Given the description of an element on the screen output the (x, y) to click on. 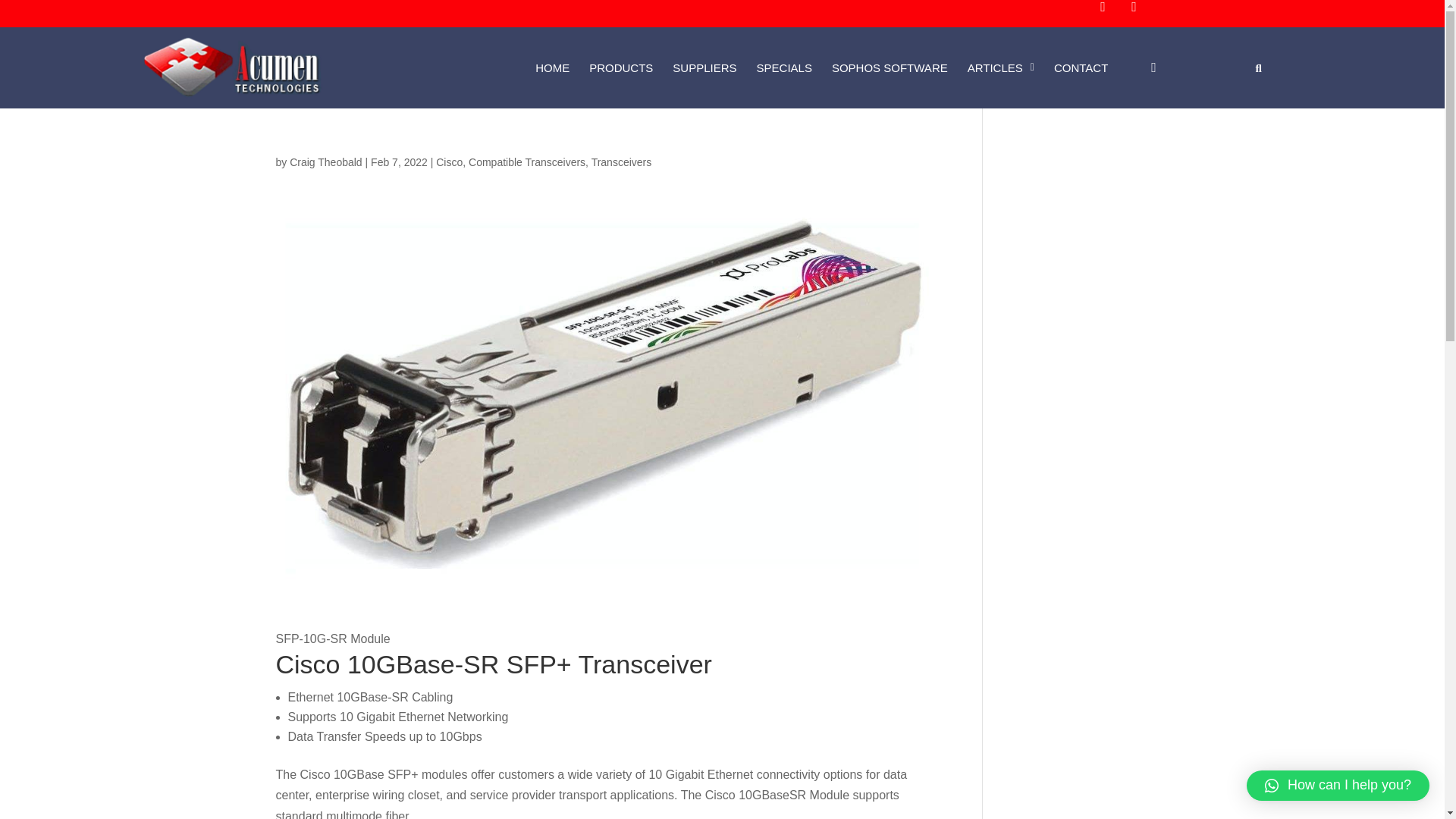
ARTICLES (1000, 67)
SOPHOS SOFTWARE (890, 67)
HOME (552, 67)
Compatible Transceivers (526, 162)
Posts by Craig Theobald (325, 162)
Craig Theobald (325, 162)
Cisco (449, 162)
CONTACT (1080, 67)
Search (1252, 67)
Transceivers (621, 162)
PRODUCTS (620, 67)
SUPPLIERS (703, 67)
SPECIALS (784, 67)
